Given the description of an element on the screen output the (x, y) to click on. 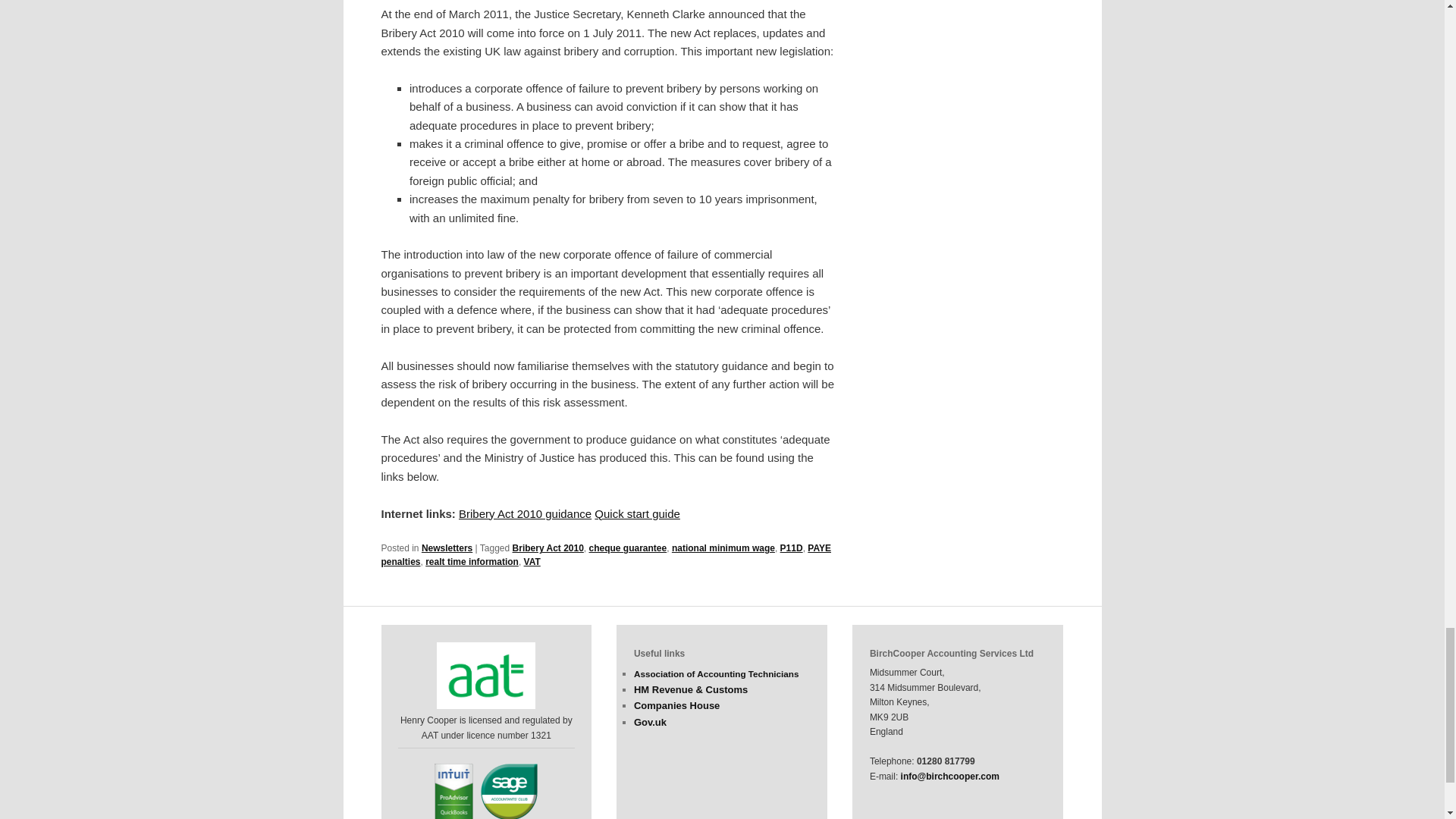
Association of Accounting Technicians - member (485, 675)
Quick start guide (636, 513)
Newsletters (446, 547)
Bribery Act 2010 guidance (524, 513)
Bribery Act 2010 (547, 547)
Sage Accountants Club member (508, 791)
